Given the description of an element on the screen output the (x, y) to click on. 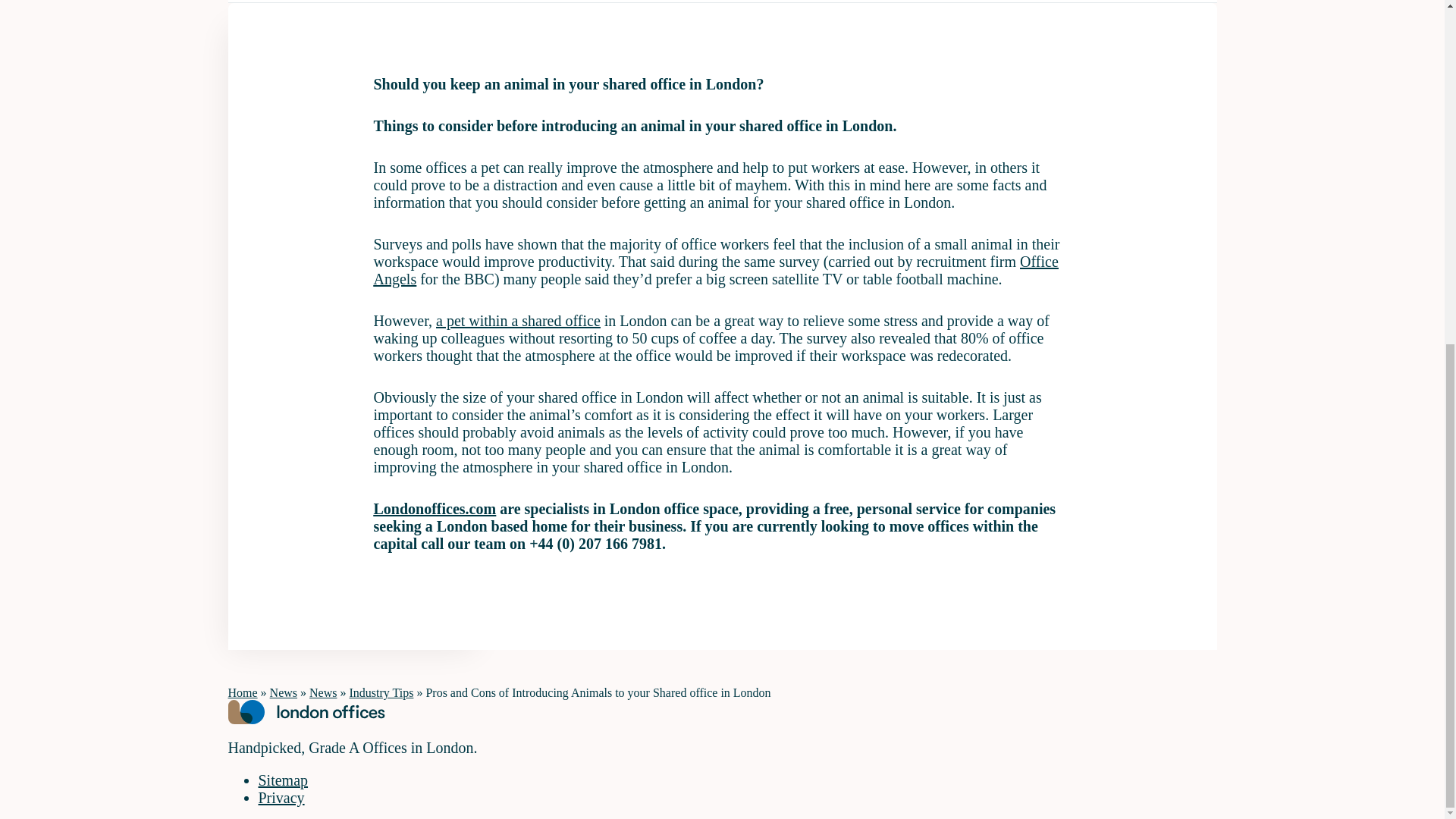
Home (242, 692)
a pet within a shared office (517, 320)
Industry Tips (381, 692)
Sitemap (282, 780)
News (322, 692)
News (283, 692)
Privacy (280, 797)
Back to all News (295, 1)
Office Angels (715, 270)
Londonoffices.com (434, 508)
